Given the description of an element on the screen output the (x, y) to click on. 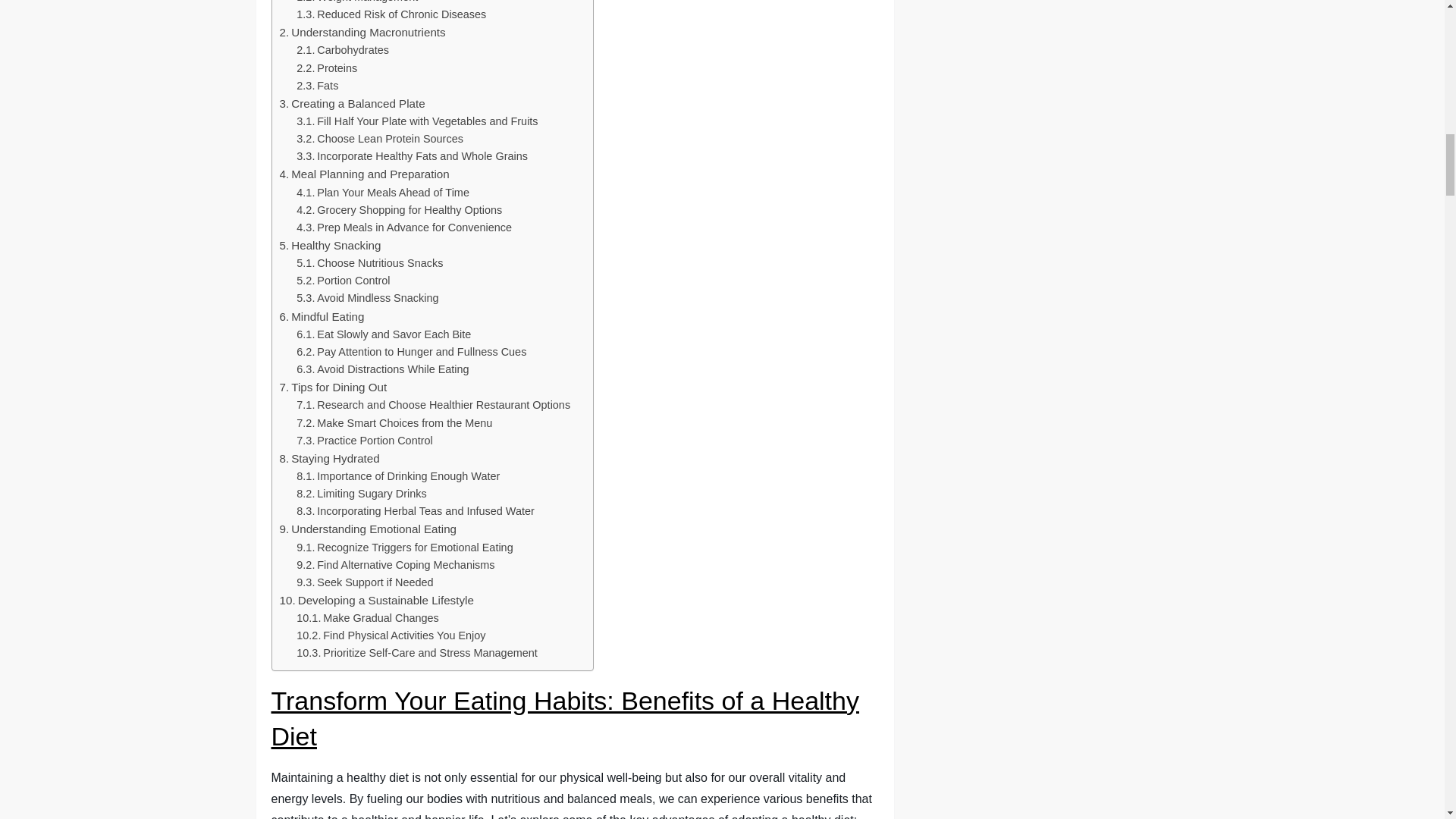
Choose Nutritious Snacks (369, 262)
Understanding Macronutrients (362, 32)
Reduced Risk of Chronic Diseases (391, 14)
Research and Choose Healthier Restaurant Options (433, 405)
Grocery Shopping for Healthy Options (399, 210)
Choose Lean Protein Sources (380, 139)
Choose Lean Protein Sources (380, 139)
Incorporate Healthy Fats and Whole Grains (412, 156)
Creating a Balanced Plate (352, 104)
Proteins (326, 67)
